Given the description of an element on the screen output the (x, y) to click on. 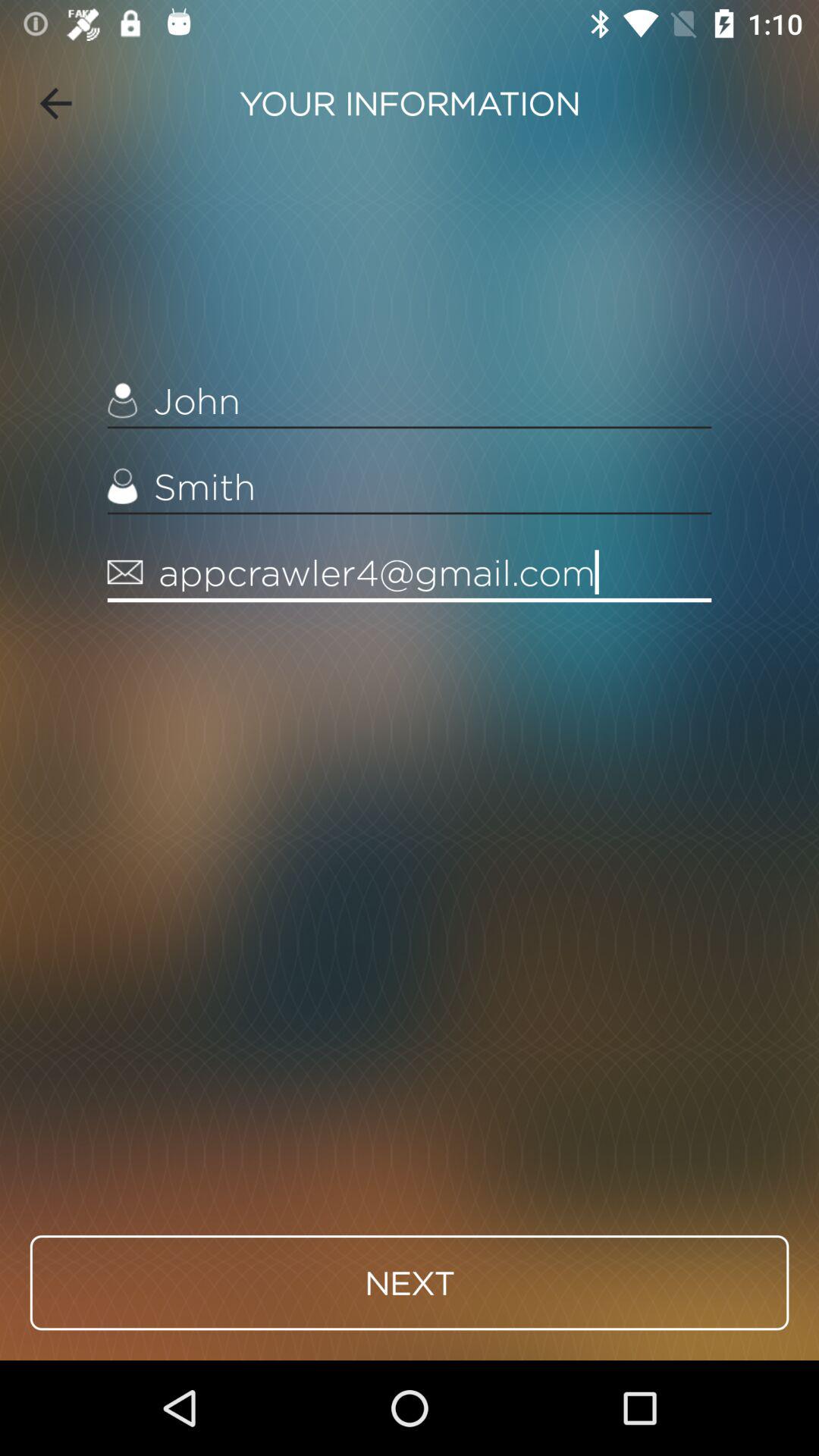
open item at the top left corner (55, 103)
